Given the description of an element on the screen output the (x, y) to click on. 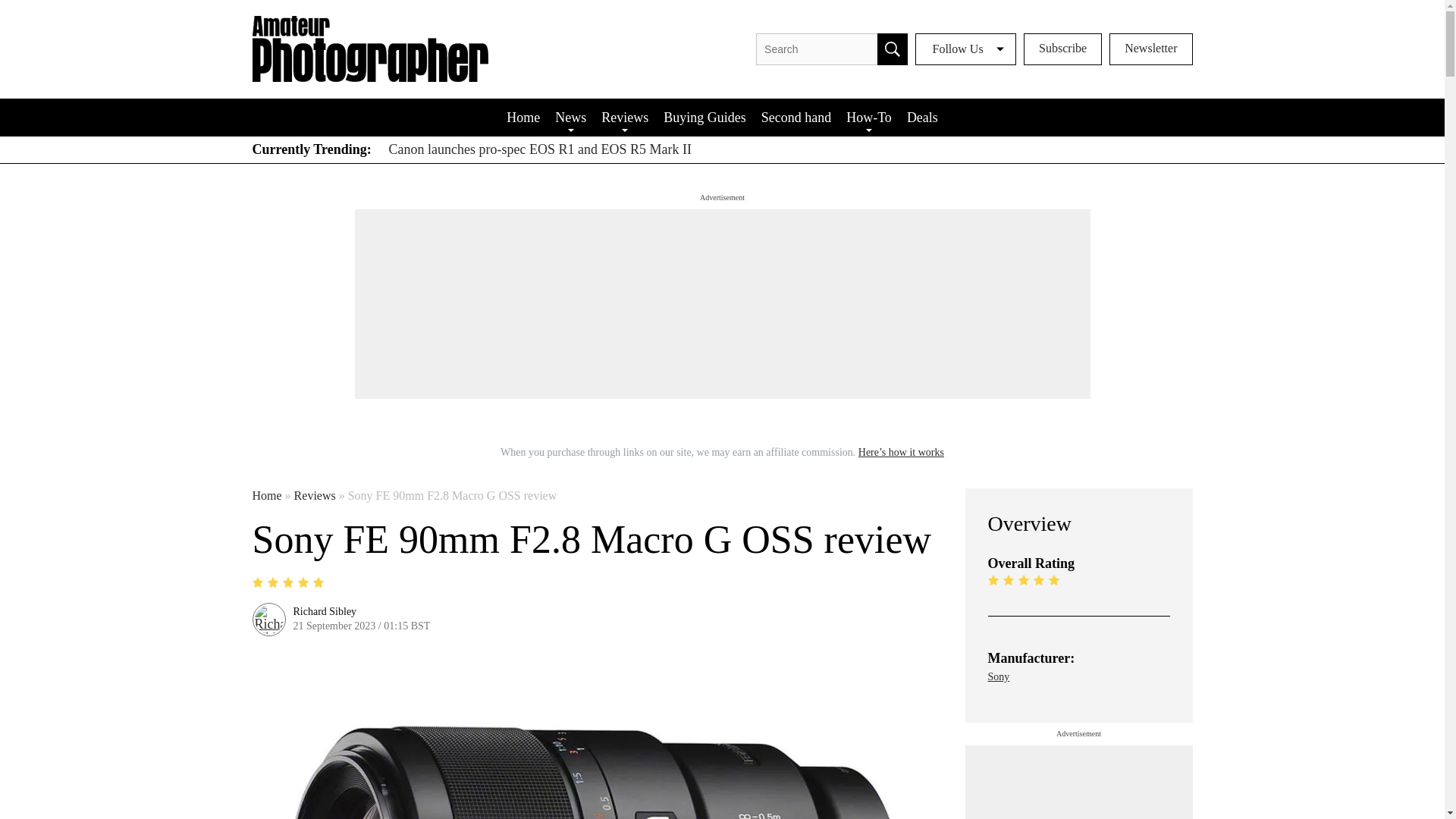
News (570, 117)
Home (523, 117)
Subscribe (1062, 49)
Buying Guides (705, 117)
Follow Us (965, 49)
Second hand (796, 117)
How-To (868, 117)
Search (892, 49)
Newsletter (1150, 49)
Reviews (625, 117)
